Given the description of an element on the screen output the (x, y) to click on. 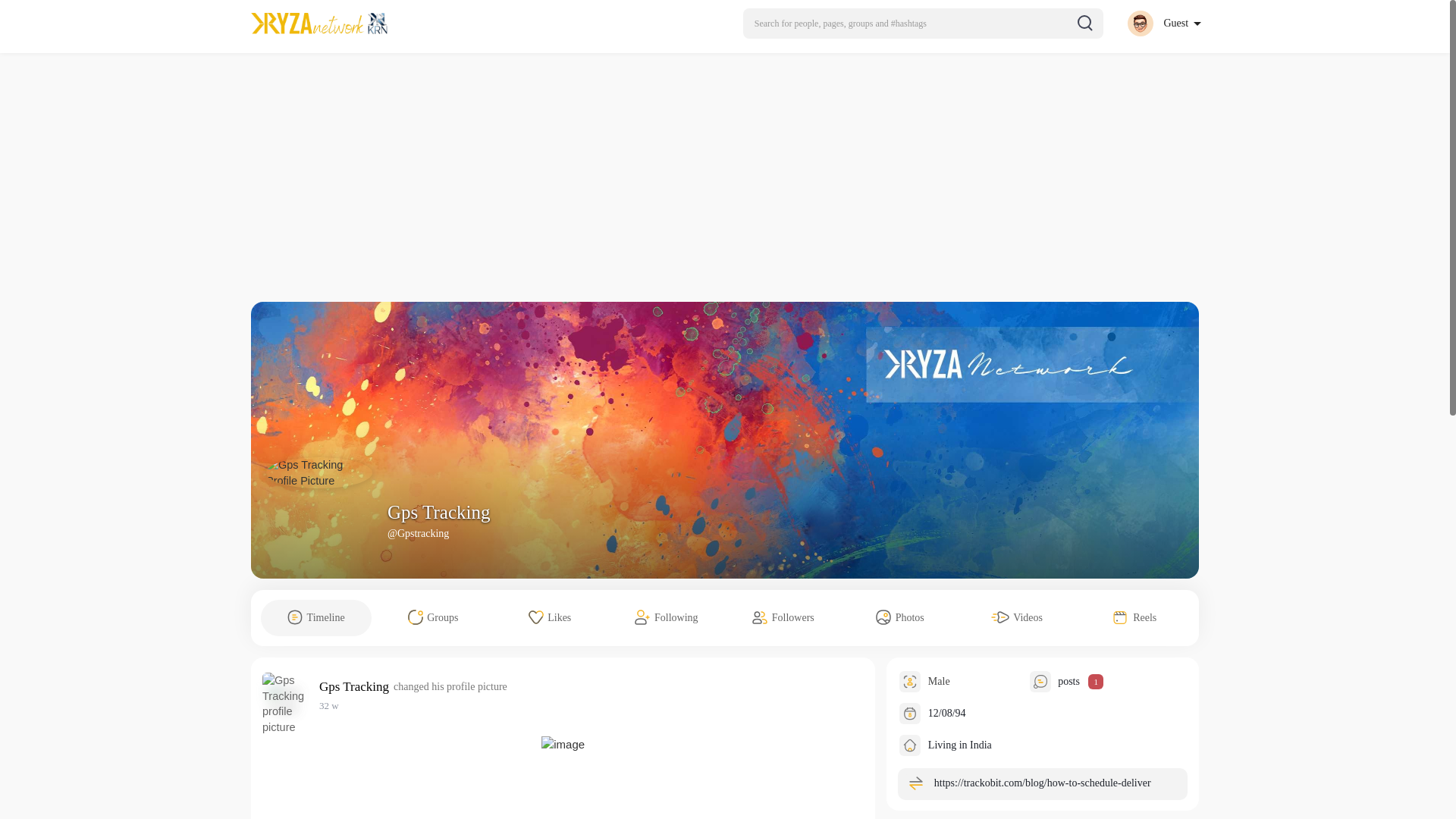
Reels (1133, 617)
32 w (328, 705)
Gps Tracking (356, 686)
Guest (1163, 23)
Photos (899, 617)
Groups (432, 617)
Gps Tracking (438, 512)
Likes (550, 617)
Videos (1015, 617)
Following (666, 617)
